Given the description of an element on the screen output the (x, y) to click on. 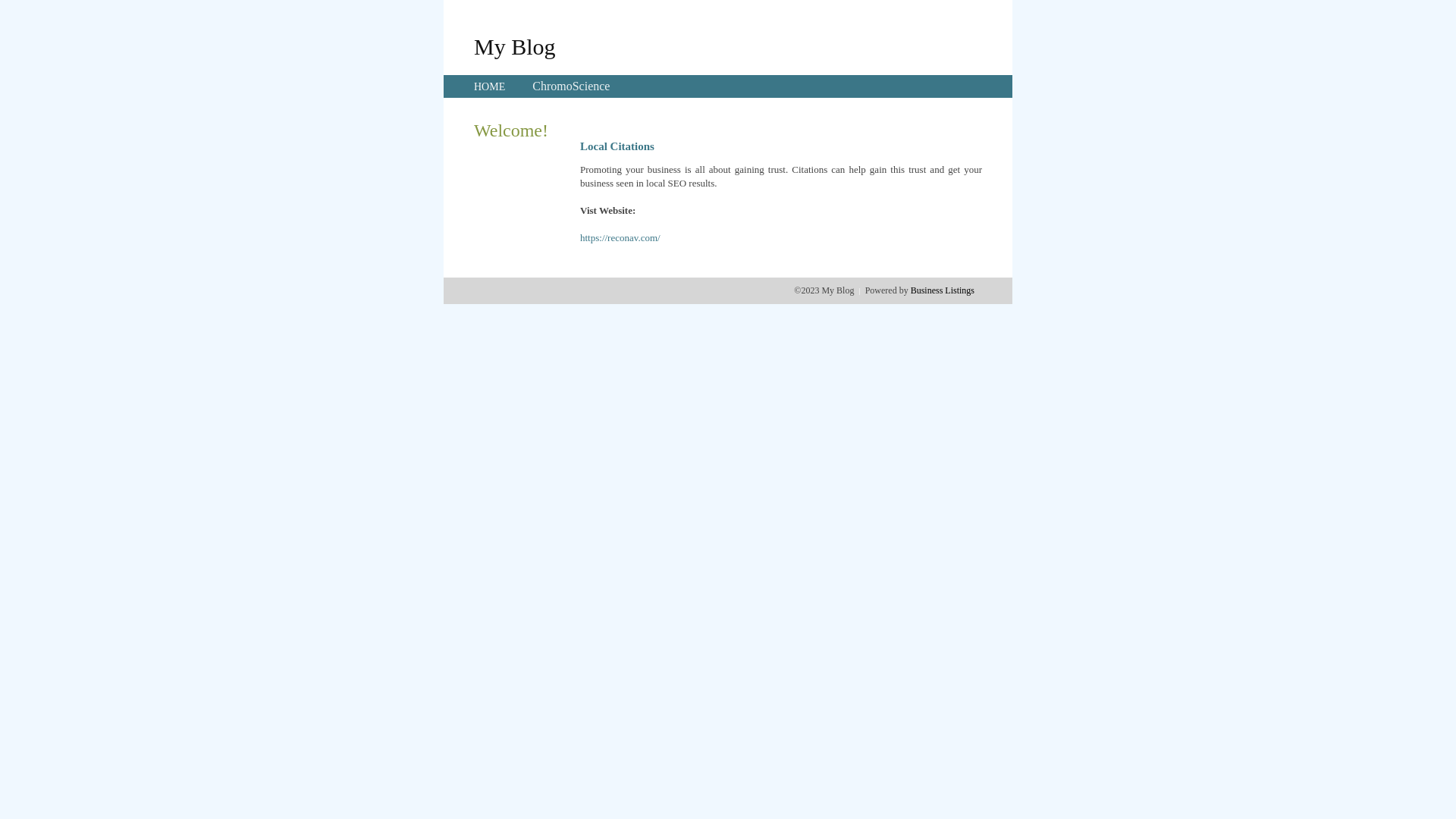
HOME Element type: text (489, 86)
https://reconav.com/ Element type: text (620, 237)
Business Listings Element type: text (942, 290)
My Blog Element type: text (514, 46)
ChromoScience Element type: text (570, 85)
